Given the description of an element on the screen output the (x, y) to click on. 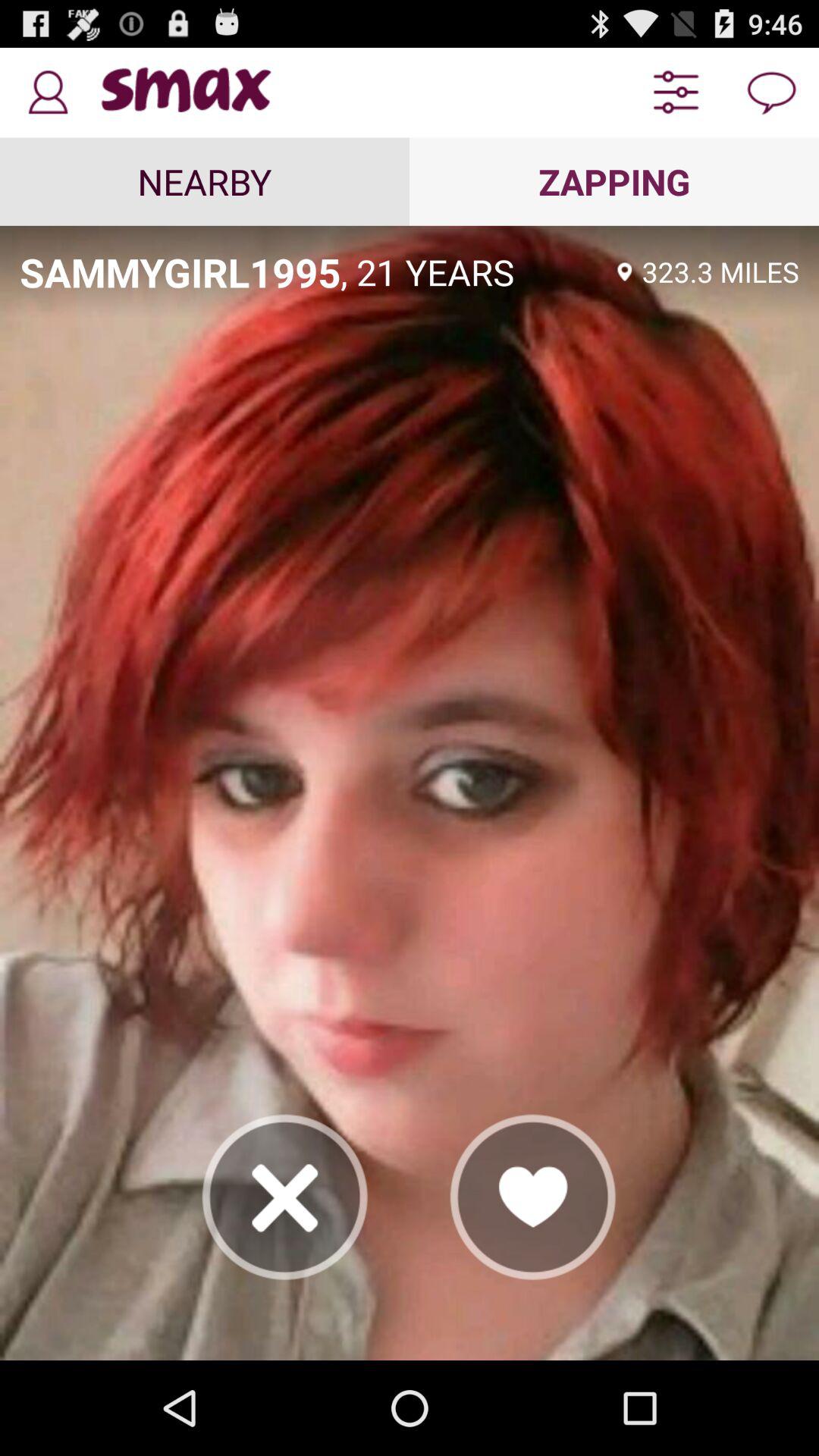
tap the , 21 years app (473, 271)
